Given the description of an element on the screen output the (x, y) to click on. 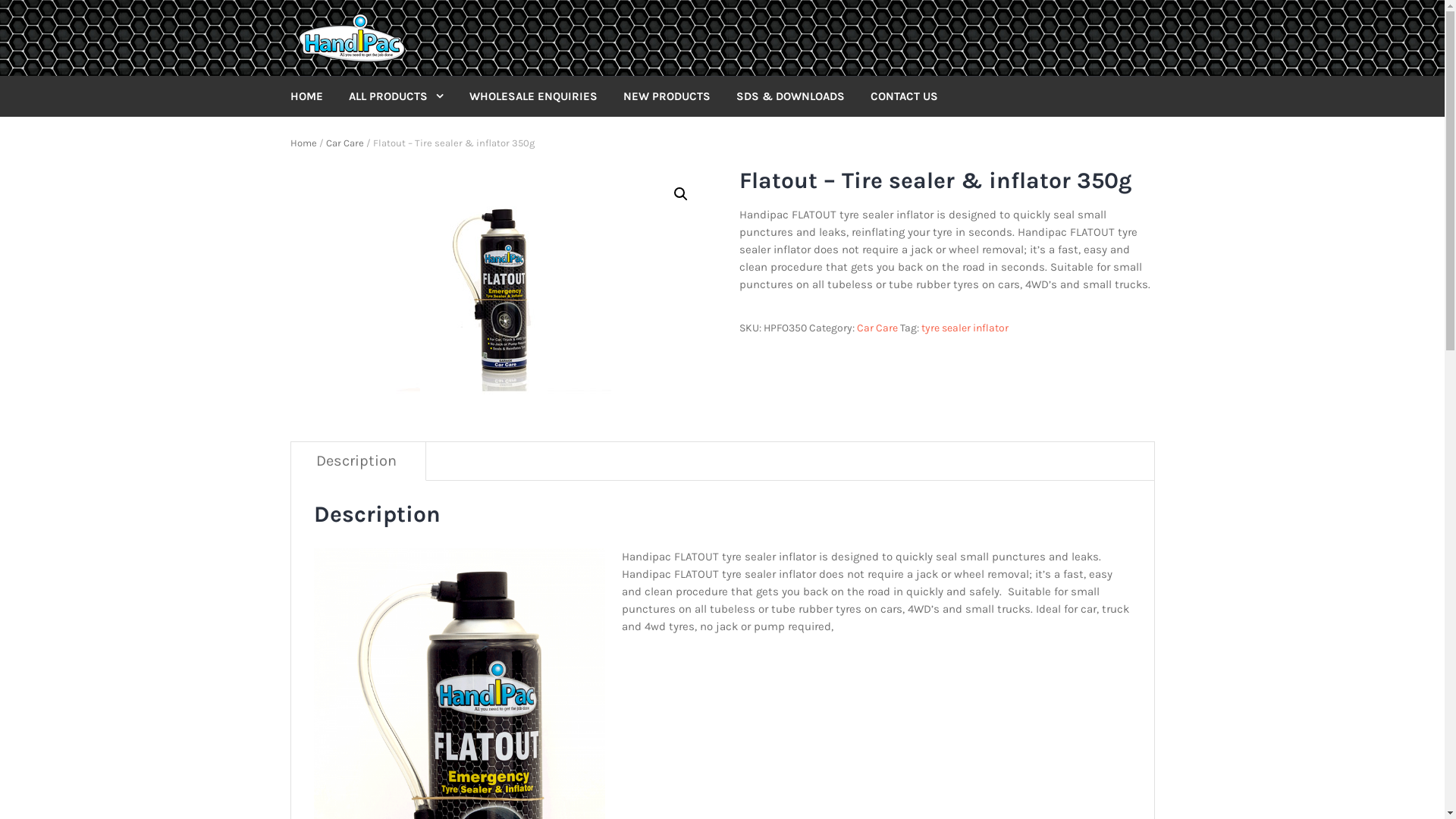
Car Care Element type: text (876, 327)
tyre sealer inflator Element type: text (964, 327)
Car Care Element type: text (345, 141)
Handipac-300px-Flatout Element type: hover (497, 283)
HOME Element type: text (317, 96)
ALL PRODUCTS Element type: text (407, 96)
Description Element type: text (356, 460)
WHOLESALE ENQUIRIES Element type: text (543, 96)
NEW PRODUCTS Element type: text (678, 96)
SDS & DOWNLOADS Element type: text (800, 96)
Home Element type: text (302, 141)
CONTACT US Element type: text (915, 96)
